Given the description of an element on the screen output the (x, y) to click on. 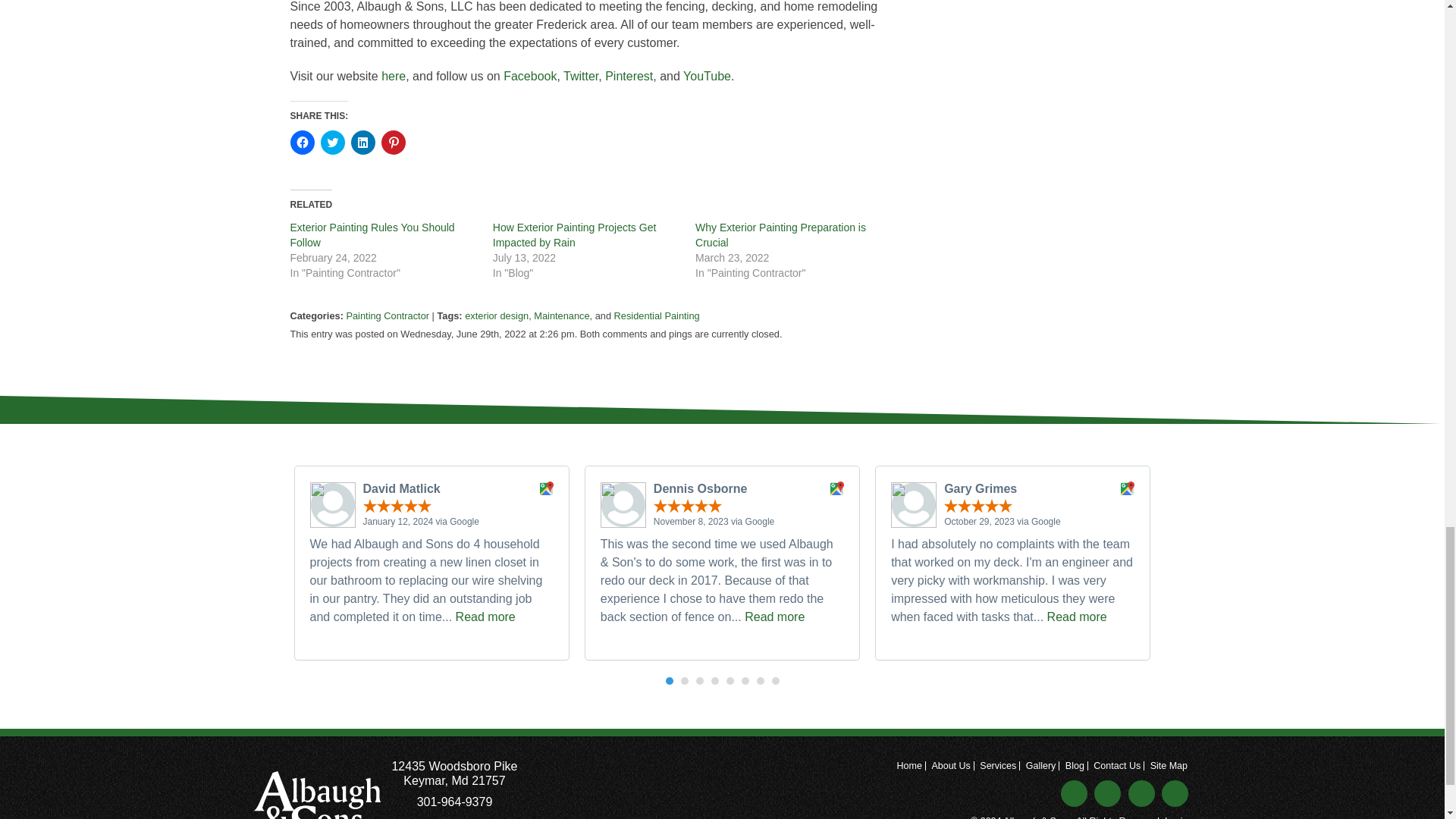
Click to share on Pinterest (392, 142)
Why Exterior Painting Preparation is Crucial (780, 234)
Exterior Painting Rules You Should Follow (371, 234)
Click to share on LinkedIn (362, 142)
How Exterior Painting Projects Get Impacted by Rain (574, 234)
Click to share on Twitter (331, 142)
Click to share on Facebook (301, 142)
